Given the description of an element on the screen output the (x, y) to click on. 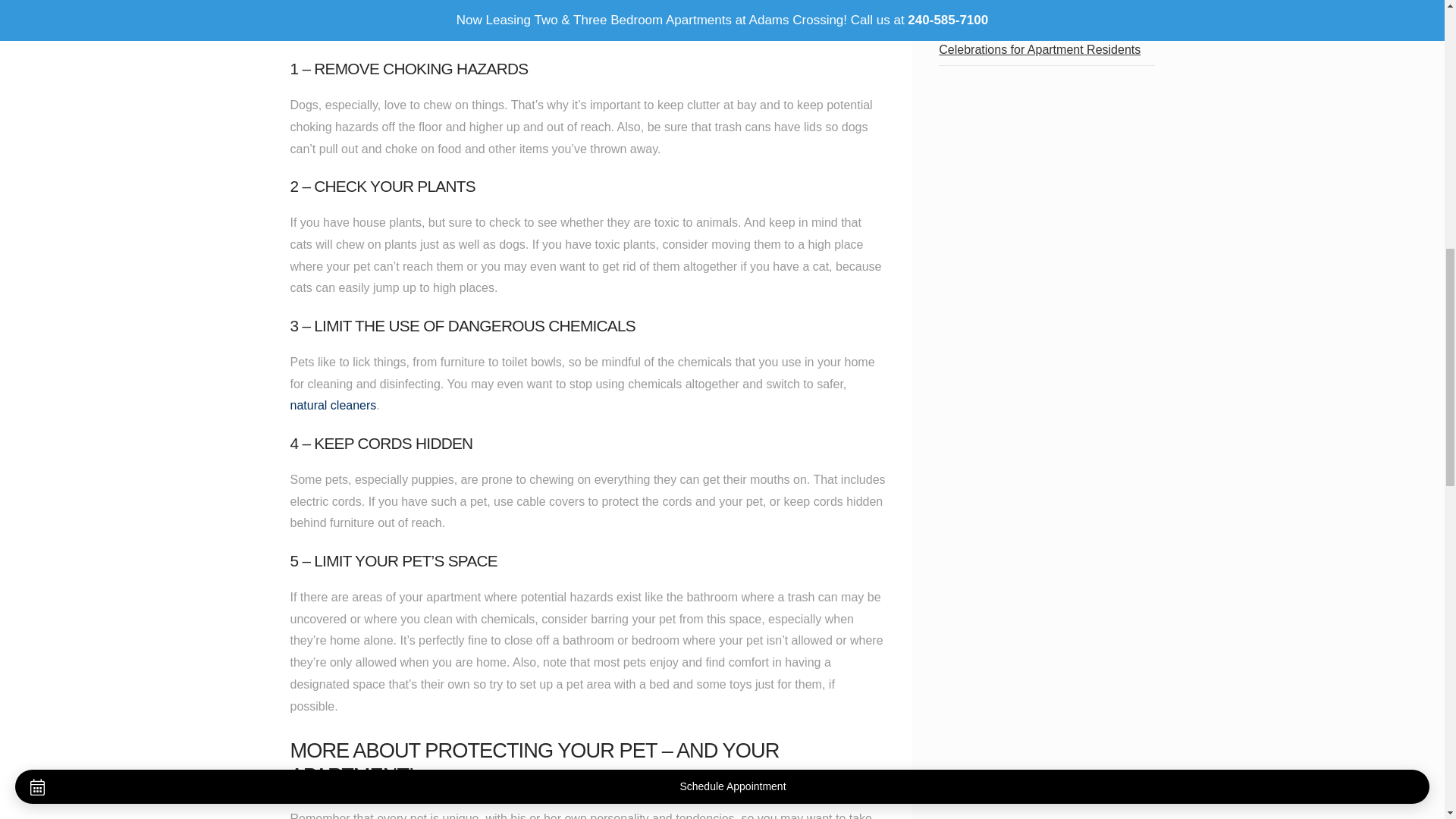
natural cleaners (332, 404)
Decorating Apartment for Cheap: Stylish Ideas on a Budget (1027, 6)
